Given the description of an element on the screen output the (x, y) to click on. 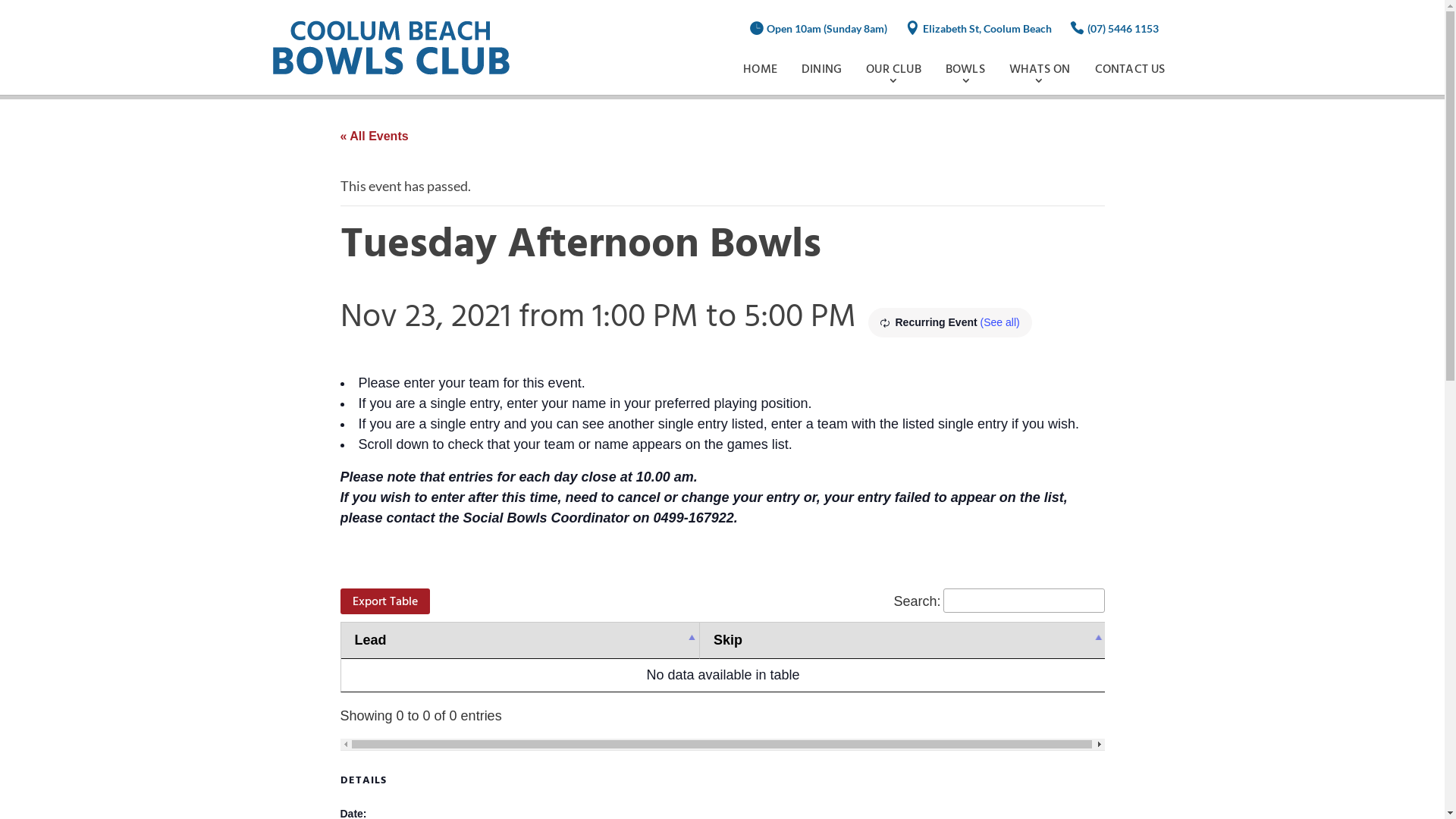
OUR CLUB Element type: text (893, 69)
Export Table Element type: text (384, 601)
(See all) Element type: text (999, 322)
CONTACT US Element type: text (1129, 69)
BOWLS Element type: text (965, 69)
DINING Element type: text (821, 69)
HOME Element type: text (760, 69)
WHATS ON Element type: text (1039, 69)
(07) 5446 1153 Element type: text (1122, 27)
